Given the description of an element on the screen output the (x, y) to click on. 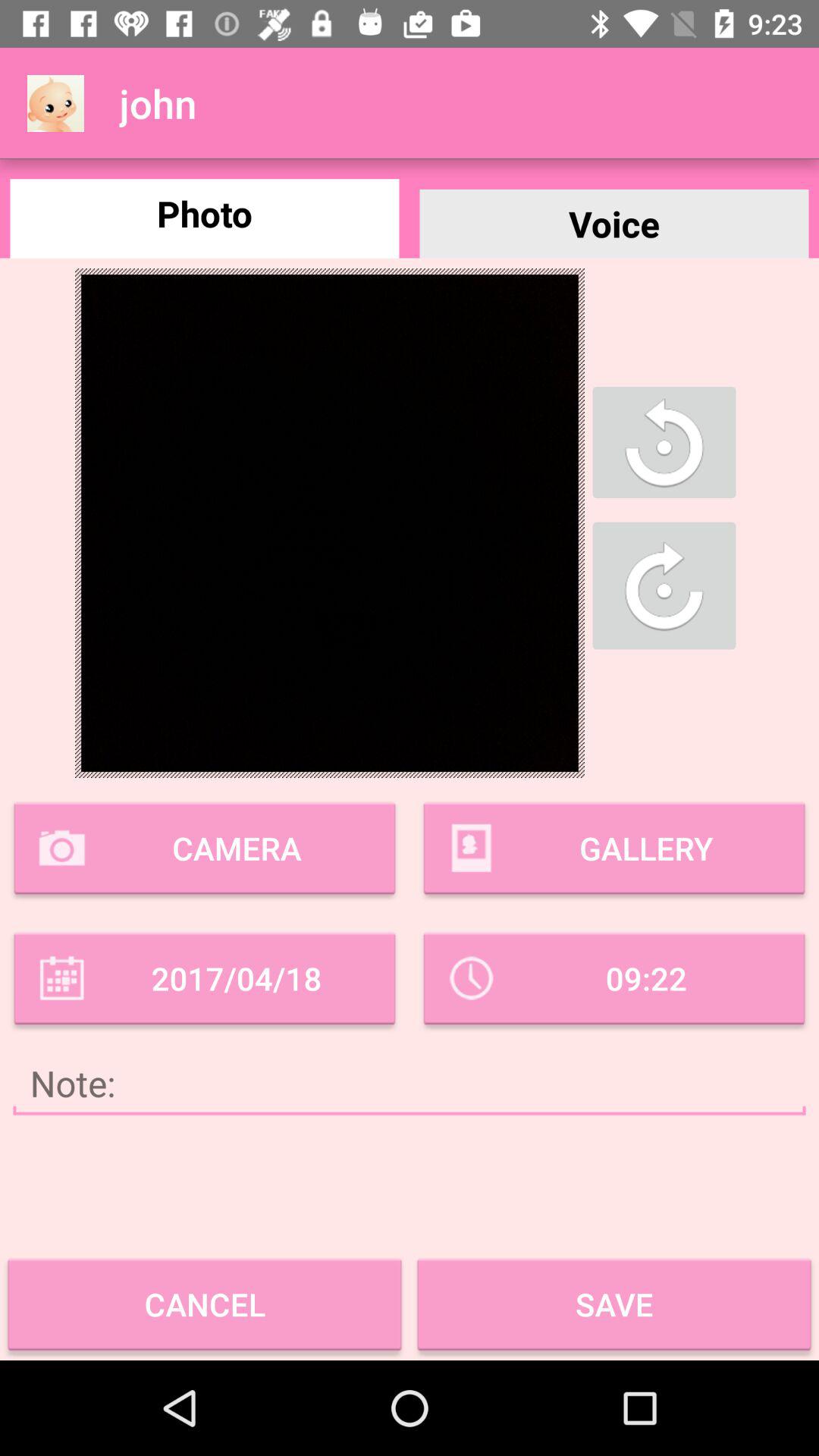
undo (663, 442)
